Given the description of an element on the screen output the (x, y) to click on. 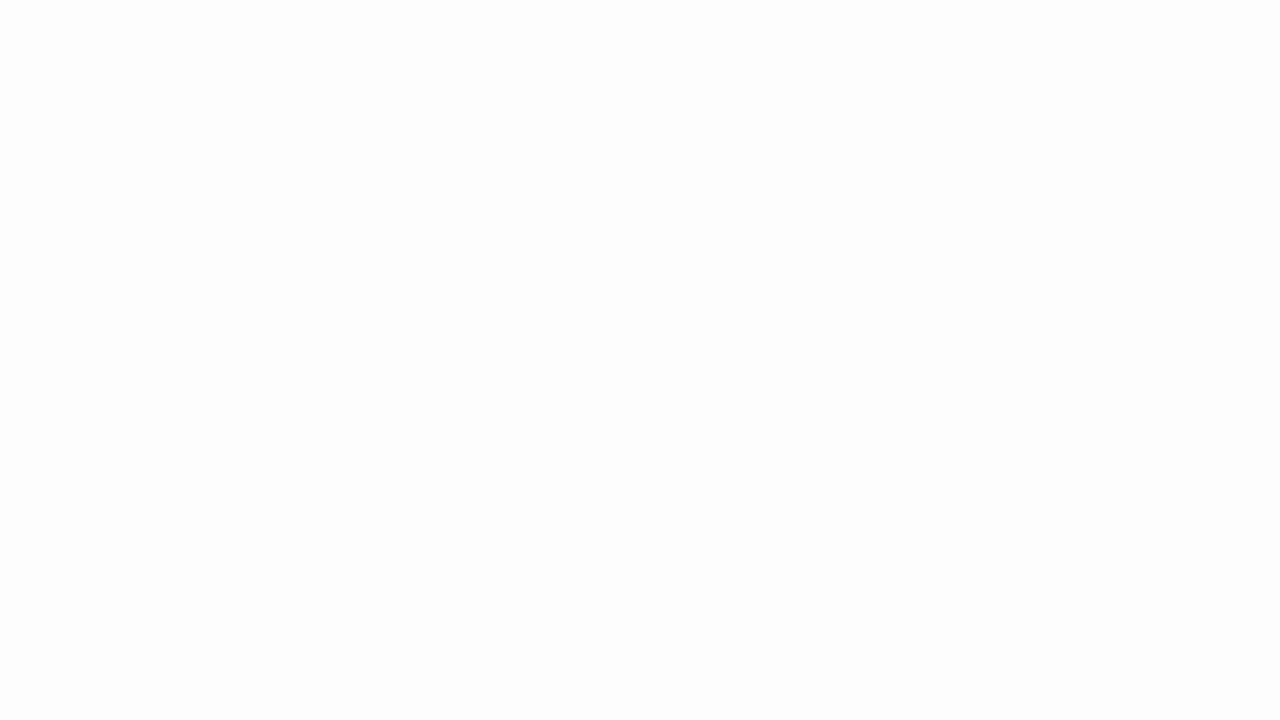
Fill Color (331, 119)
Top Align (461, 87)
Bottom Border (278, 119)
Decrease Indent (540, 119)
Format Cell Number (870, 151)
Font Color RGB(255, 0, 0) (362, 119)
Bold (183, 119)
Accounting Number Format (741, 119)
Merge & Center (649, 119)
Format as Table (990, 102)
Increase Indent (565, 119)
